Given the description of an element on the screen output the (x, y) to click on. 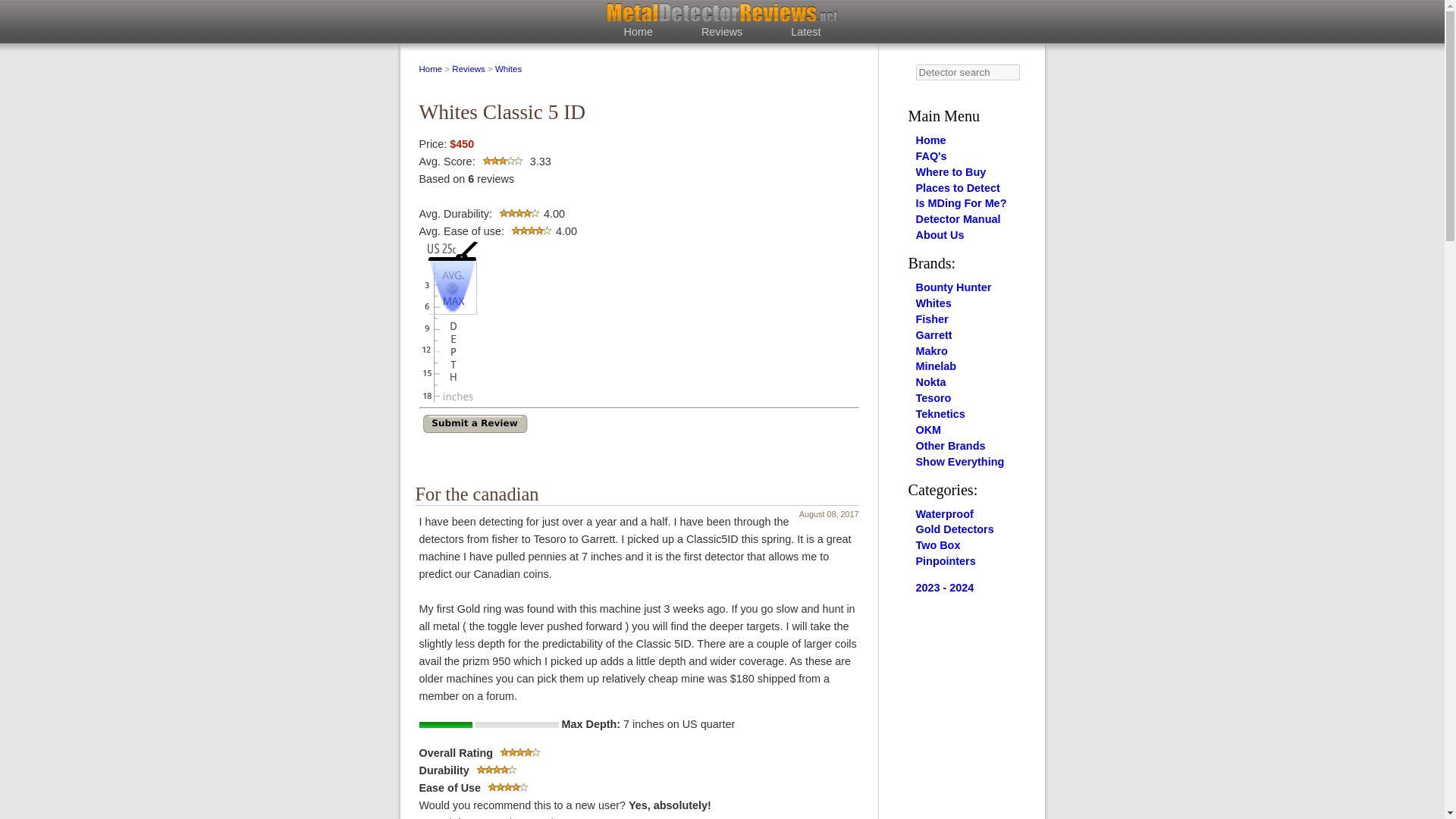
Home (930, 140)
Is MDing For Me? (961, 203)
Reviews (721, 31)
Two Box (937, 544)
Bounty Hunter (953, 287)
Fisher (932, 318)
FAQ's (931, 155)
OKM (928, 429)
About Us (939, 234)
Nokta (930, 381)
